Given the description of an element on the screen output the (x, y) to click on. 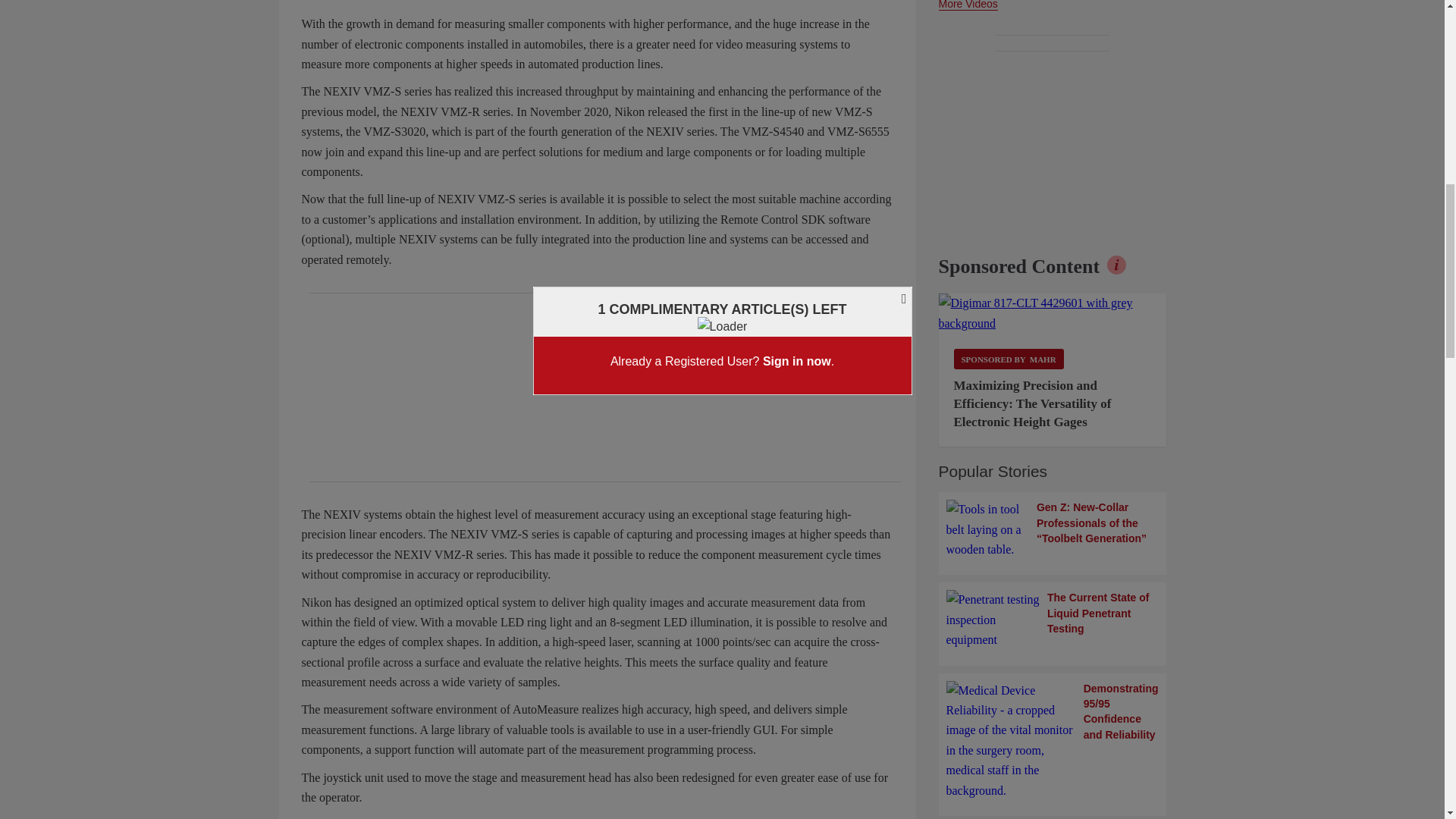
Digimar 817-CLT 4429601 with grey background (1052, 313)
The Current State of Liquid Penetrant Testing (1052, 619)
Sponsored by Mahr (1008, 358)
